Given the description of an element on the screen output the (x, y) to click on. 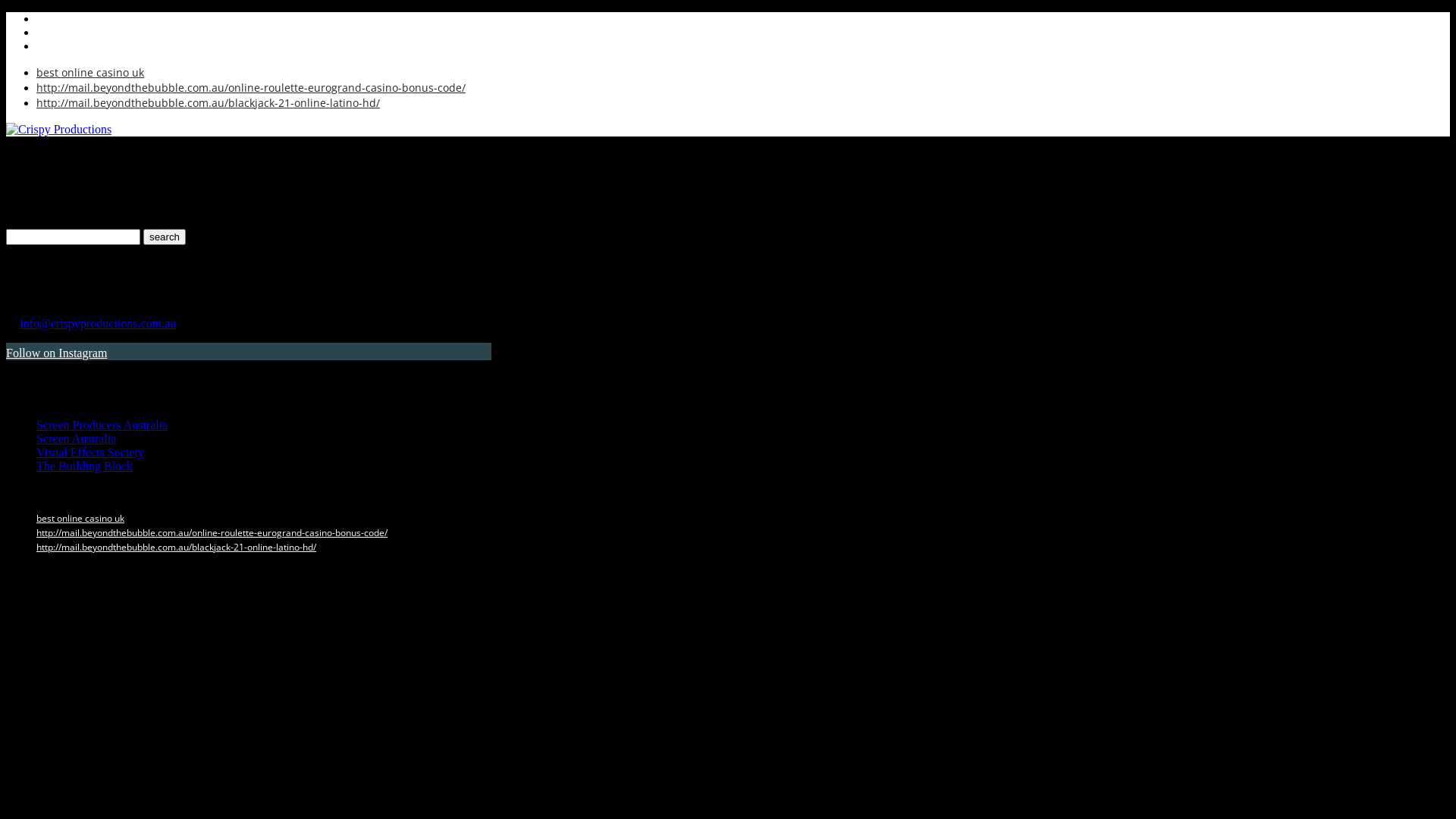
best online casino uk Element type: text (80, 517)
Screen Australia Element type: text (76, 438)
Screen Producers Australia Element type: text (101, 424)
search Element type: text (164, 236)
Follow on Instagram Element type: text (56, 352)
best online casino uk Element type: text (90, 72)
Visual Effects Society Element type: text (90, 451)
The Building Block Element type: text (84, 465)
info@crispyproductions.com.au Element type: text (97, 322)
